Given the description of an element on the screen output the (x, y) to click on. 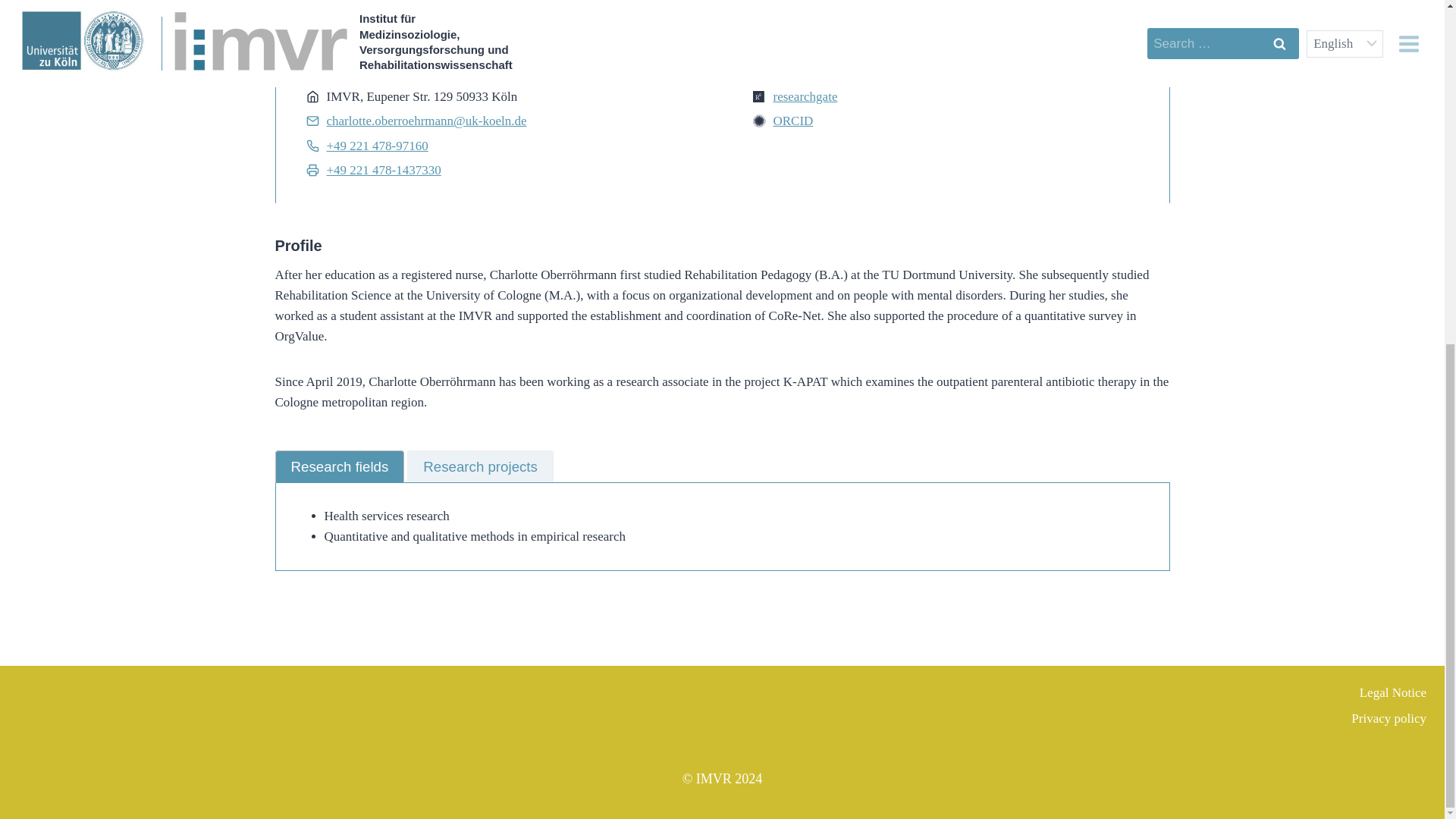
researchgate (805, 96)
Research projects (480, 466)
Research fields (339, 466)
Legal Notice (1199, 693)
Privacy policy (1199, 719)
ORCID (793, 120)
